Given the description of an element on the screen output the (x, y) to click on. 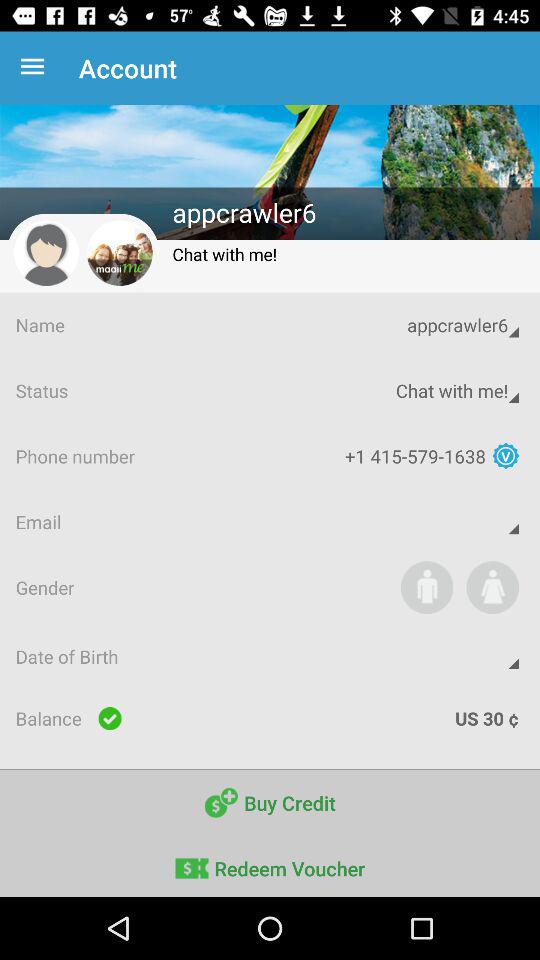
select female (492, 587)
